Given the description of an element on the screen output the (x, y) to click on. 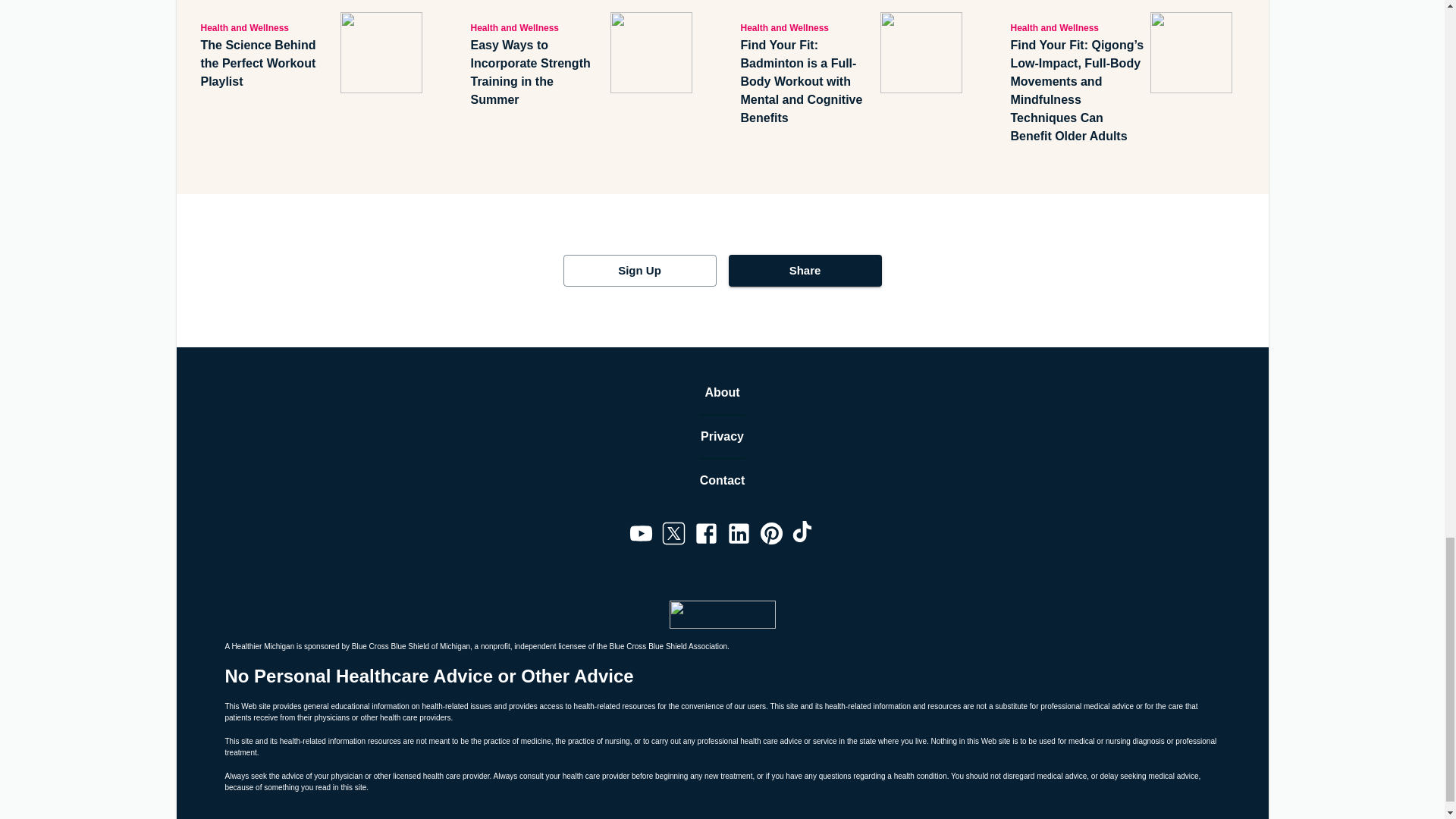
Easy Ways to Incorporate Strength Training in the Summer (537, 72)
Health and Wellness (807, 27)
Health and Wellness (1077, 27)
Health and Wellness (267, 27)
Privacy (722, 436)
The Science Behind the Perfect Workout Playlist (267, 63)
Sign Up (639, 270)
Share (804, 270)
Contact (722, 480)
About (721, 393)
Health and Wellness (537, 27)
